Given the description of an element on the screen output the (x, y) to click on. 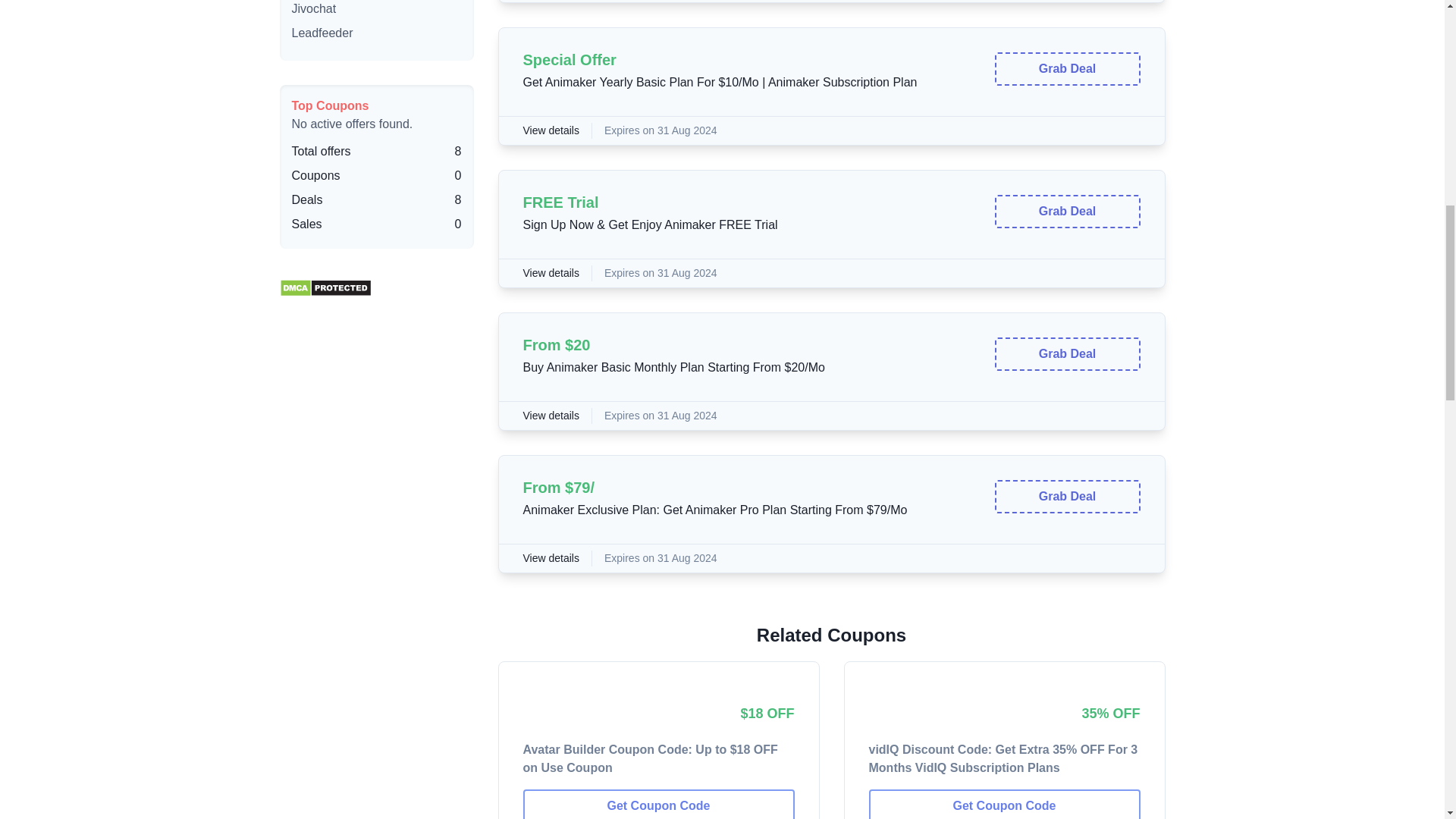
Leadfeeder (321, 32)
DMCA.com Protection Status (325, 283)
Jivochat (313, 8)
